Given the description of an element on the screen output the (x, y) to click on. 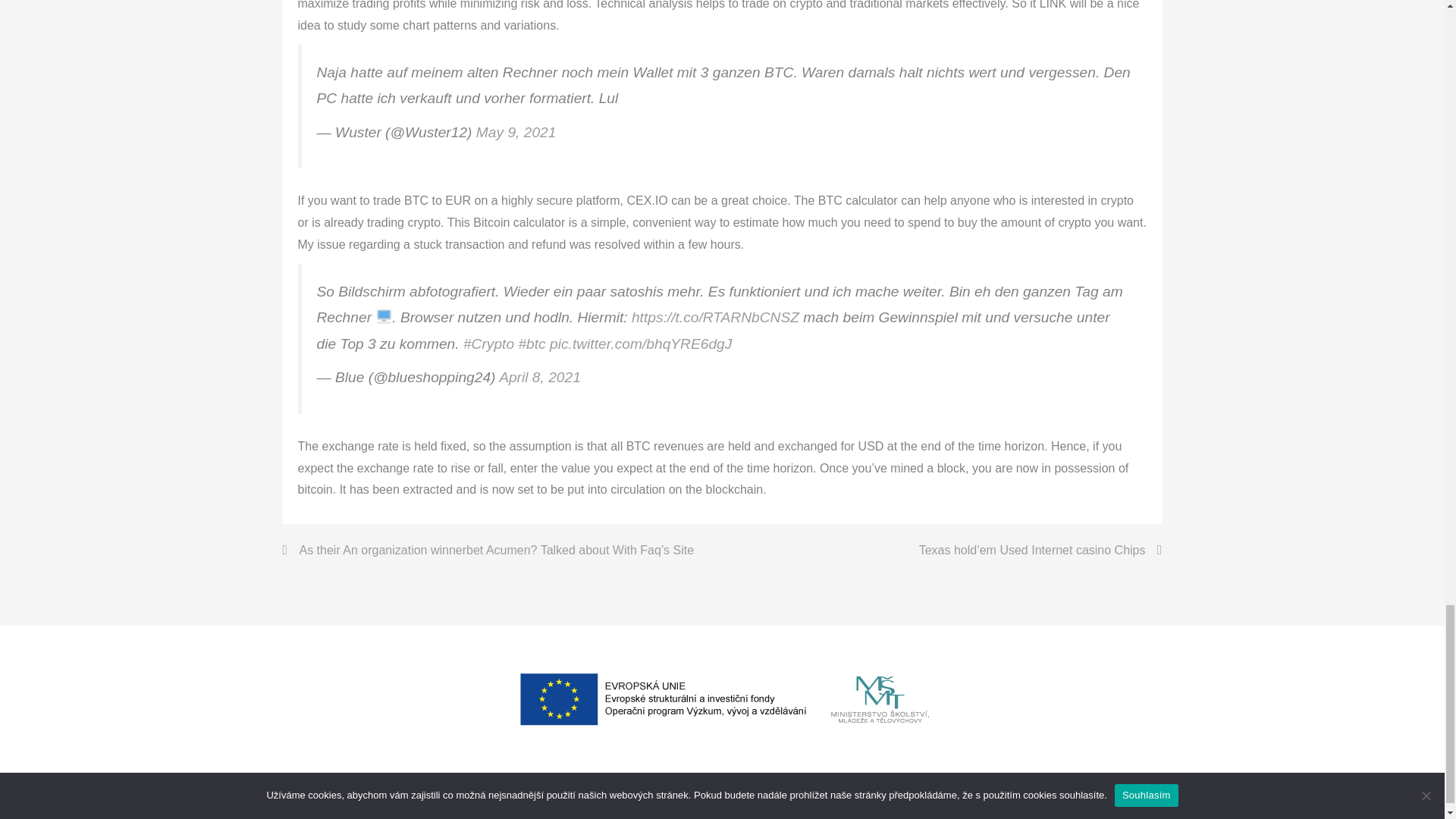
May 9, 2021 (516, 132)
April 8, 2021 (539, 376)
